Given the description of an element on the screen output the (x, y) to click on. 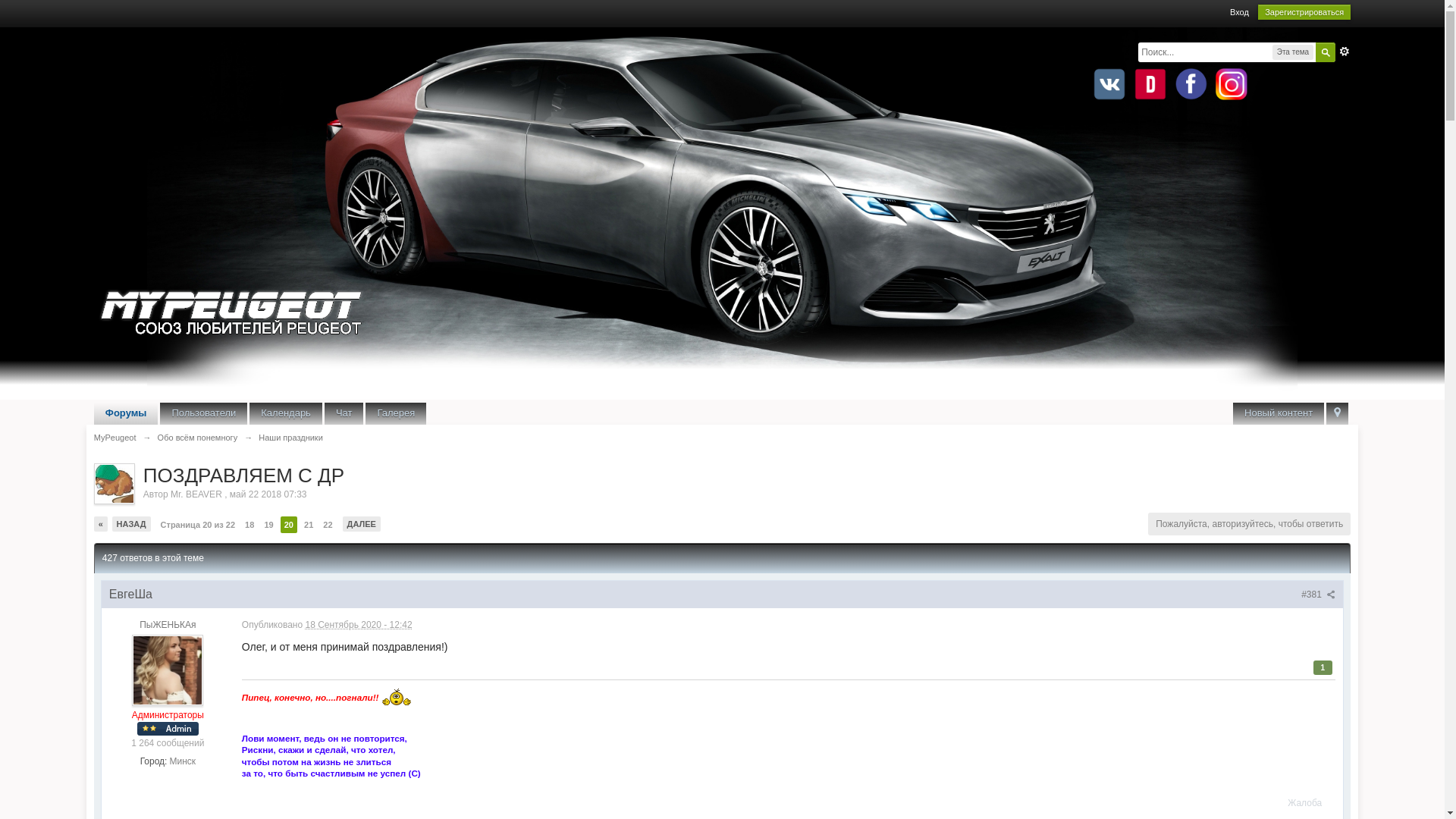
Instagram Element type: hover (1231, 84)
18 Element type: text (249, 524)
21 Element type: text (308, 524)
MyPeugeot Element type: text (115, 437)
Drive2.ru Element type: hover (1150, 84)
22 Element type: text (327, 524)
19 Element type: text (268, 524)
  Element type: text (1337, 413)
#381 Element type: text (1318, 594)
Facebook Element type: hover (1191, 84)
